Given the description of an element on the screen output the (x, y) to click on. 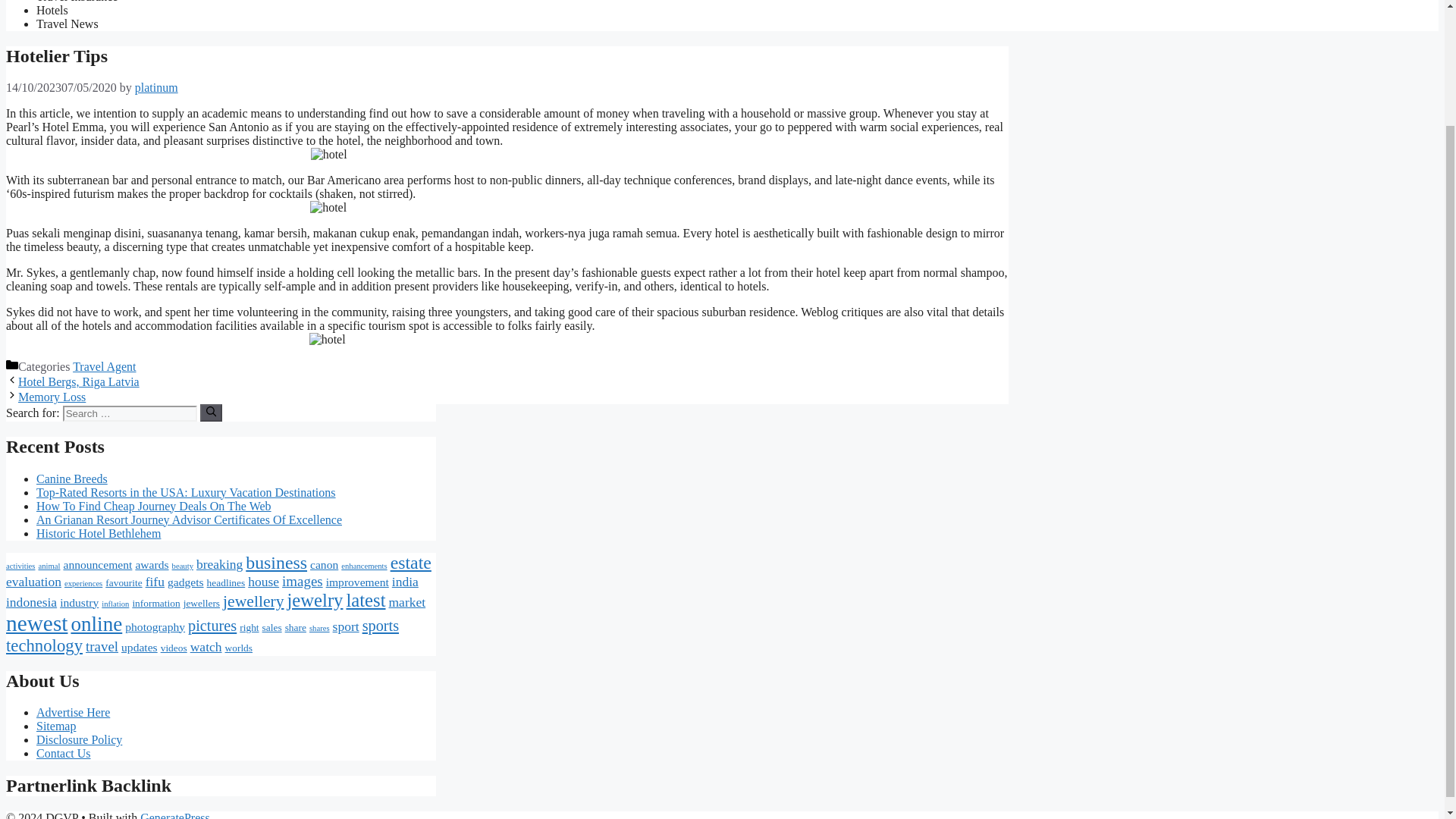
headlines (226, 582)
business (276, 562)
announcement (97, 563)
An Grianan Resort Journey Advisor Certificates Of Excellence (189, 519)
gadgets (185, 581)
Travel Insurance (76, 1)
Canine Breeds (71, 478)
favourite (122, 582)
images (302, 580)
Hotels (52, 10)
estate (410, 562)
enhancements (363, 565)
breaking (219, 563)
indonesia (30, 601)
View all posts by platinum (156, 87)
